Given the description of an element on the screen output the (x, y) to click on. 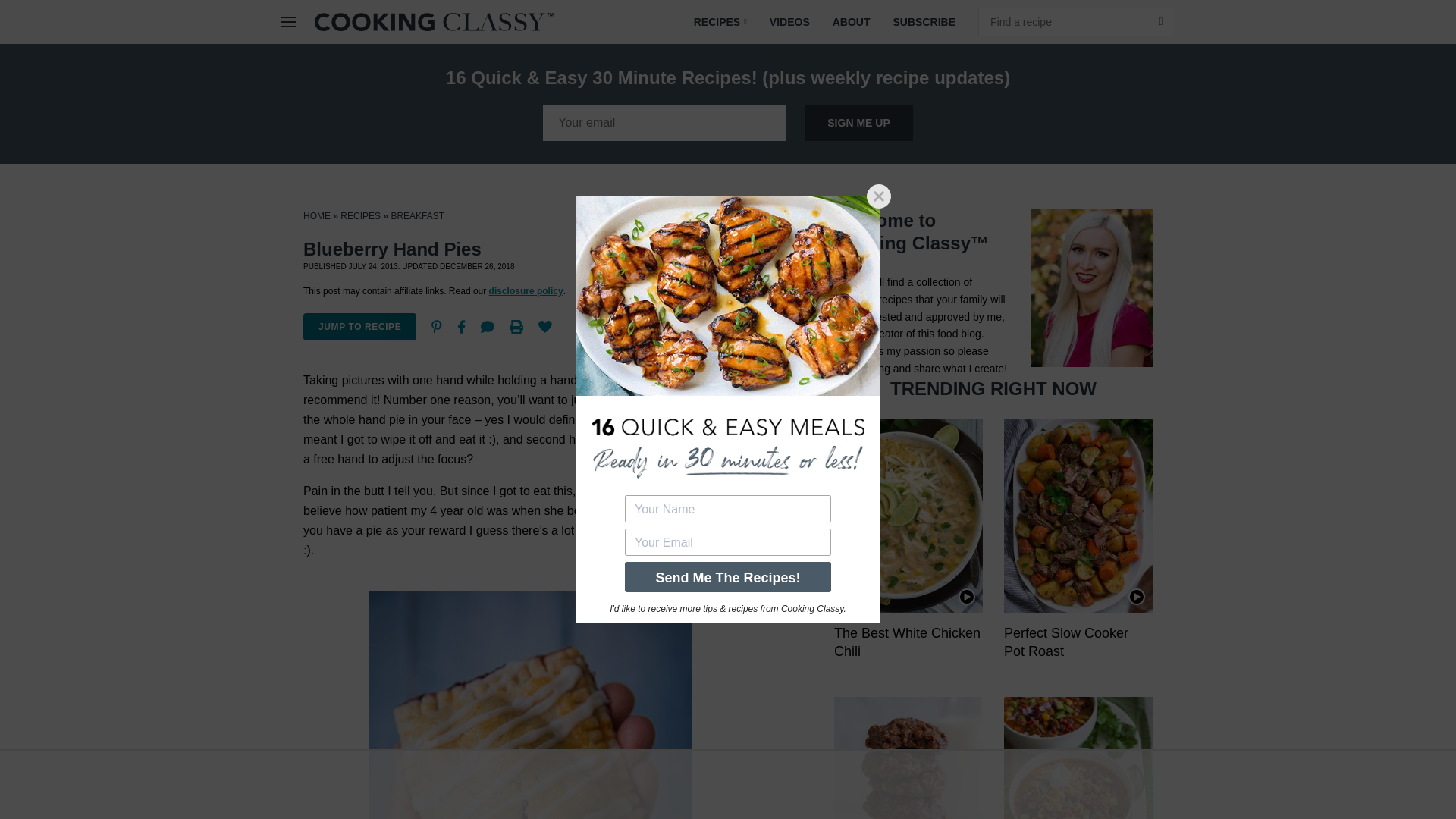
Pin (436, 326)
VIDEOS (789, 22)
ABOUT (851, 22)
Share (461, 326)
Sign Me Up (858, 122)
Close (878, 195)
RECIPES (720, 22)
Print (516, 326)
Comments (487, 326)
Send Me The Recipes! (727, 576)
Submit (1160, 22)
SUBSCRIBE (924, 22)
Save (545, 326)
